Given the description of an element on the screen output the (x, y) to click on. 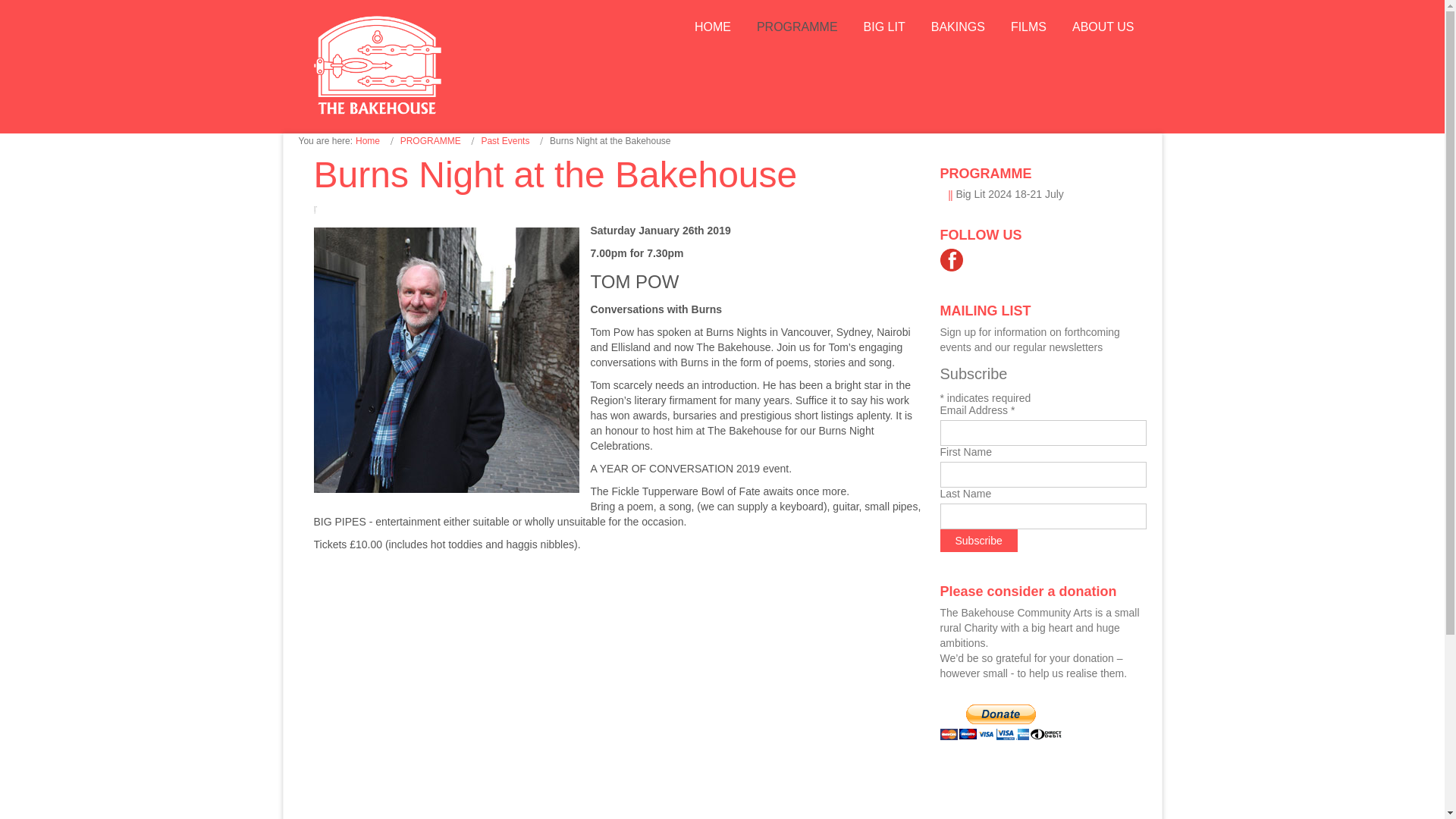
Big Lit 2024 18-21 July (1008, 193)
PROGRAMME (797, 27)
Home (367, 140)
ABOUT US (1103, 27)
Past Events (504, 140)
BIG LIT (884, 27)
FILMS (1028, 27)
PayPal - The safer, easier way to pay online! (1000, 722)
BAKINGS (957, 27)
Subscribe (978, 540)
HOME (712, 27)
Burns Night at the Bakehouse (555, 174)
Subscribe (978, 540)
PROGRAMME (430, 140)
Email this link to a friend (319, 207)
